Given the description of an element on the screen output the (x, y) to click on. 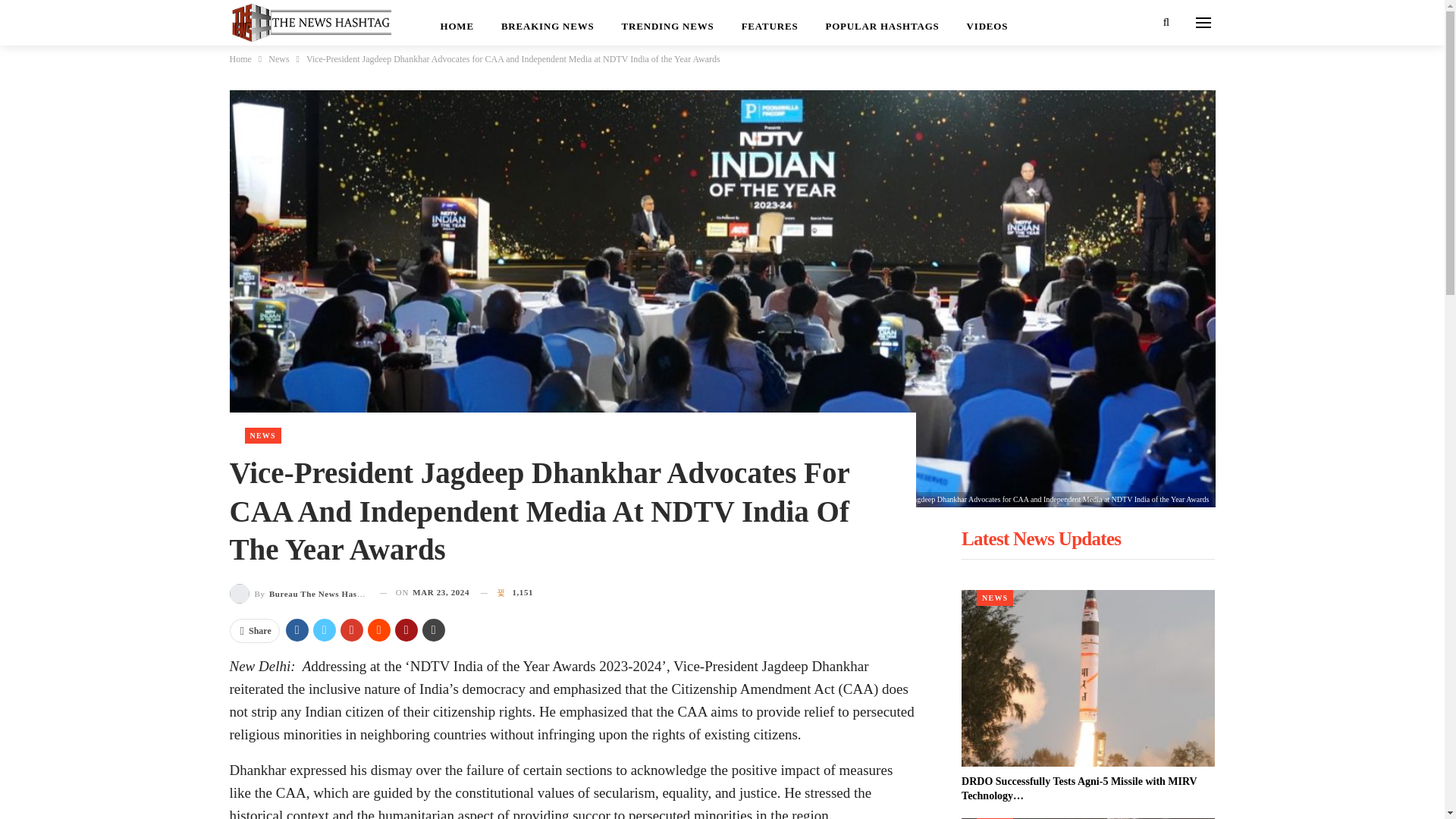
FEATURES (770, 22)
POPULAR HASHTAGS (881, 22)
NEWS (262, 435)
Home (239, 58)
Browse Author Articles (298, 592)
News (277, 58)
By Bureau The News Hashtag (298, 592)
VIDEOS (987, 22)
BREAKING NEWS (547, 22)
HOME (456, 22)
TRENDING NEWS (668, 22)
